Given the description of an element on the screen output the (x, y) to click on. 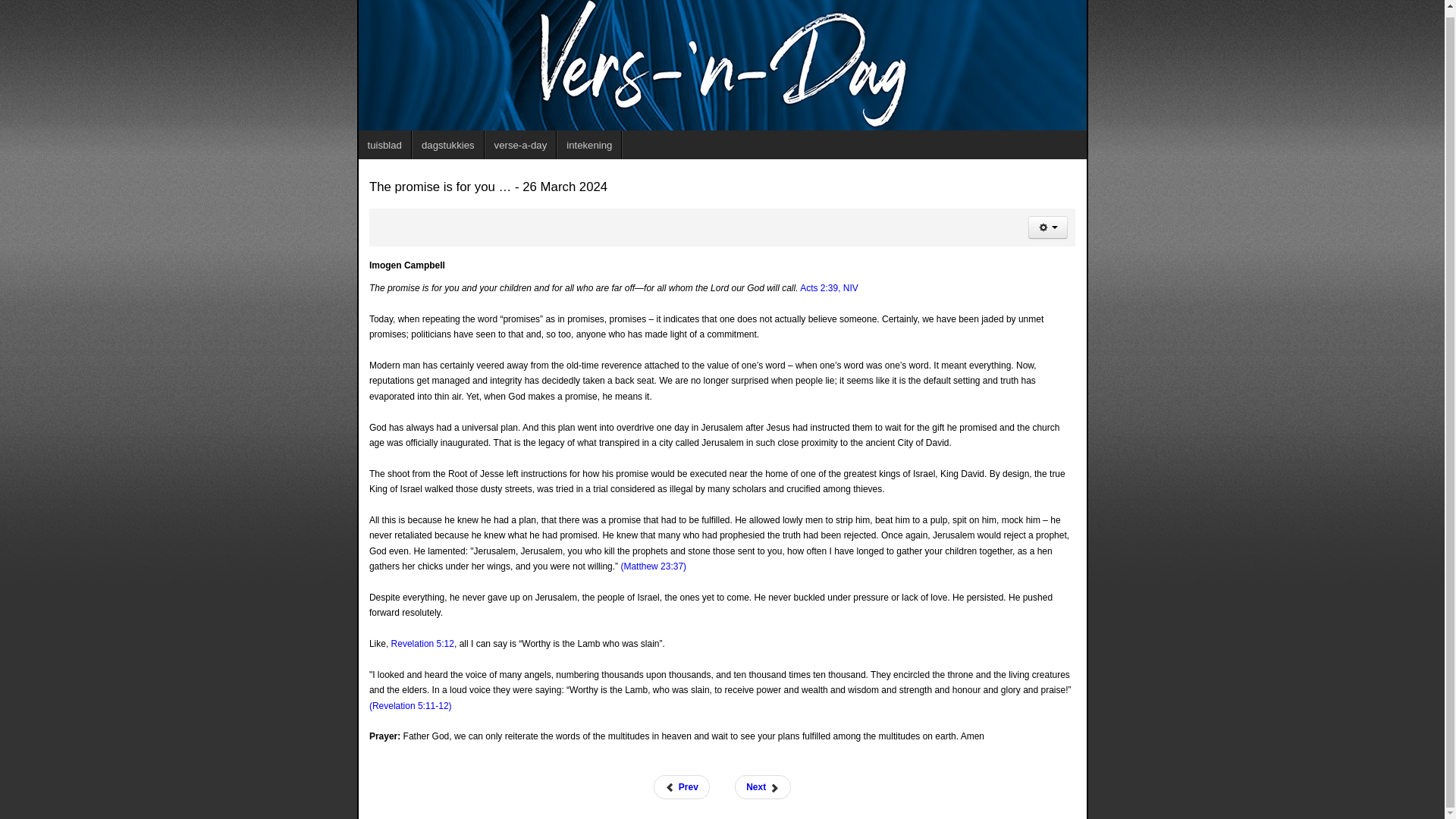
intekening (589, 144)
verse-a-day (520, 144)
tuisblad (384, 144)
Acts 2:39, NIV (829, 287)
Revelation 5:12 (422, 643)
Next (762, 786)
dagstukkies (448, 144)
Prev (681, 786)
